Given the description of an element on the screen output the (x, y) to click on. 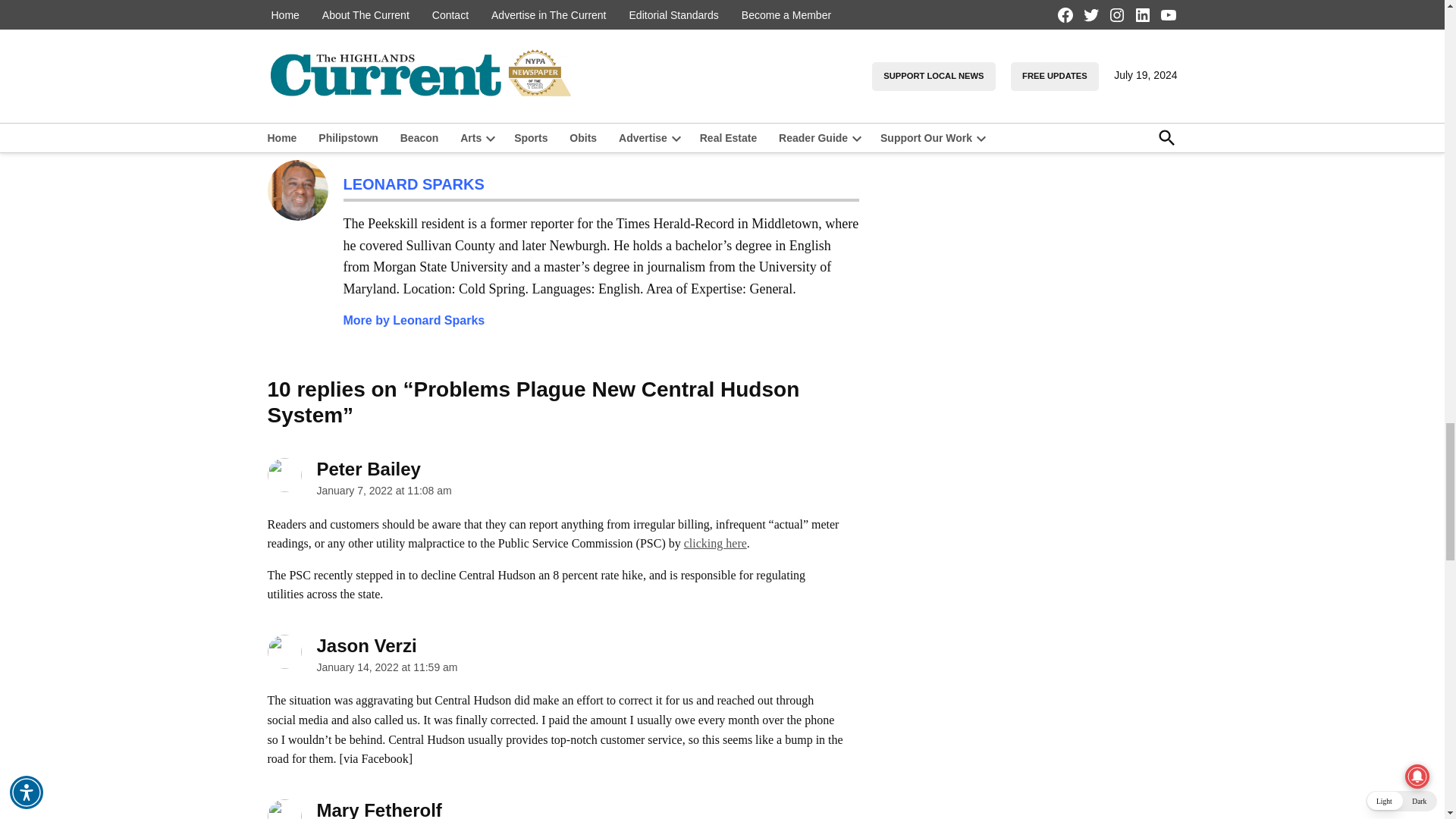
January 14, 2022 at 11:59 am (387, 666)
January 7, 2022 at 11:08 am (384, 490)
